Given the description of an element on the screen output the (x, y) to click on. 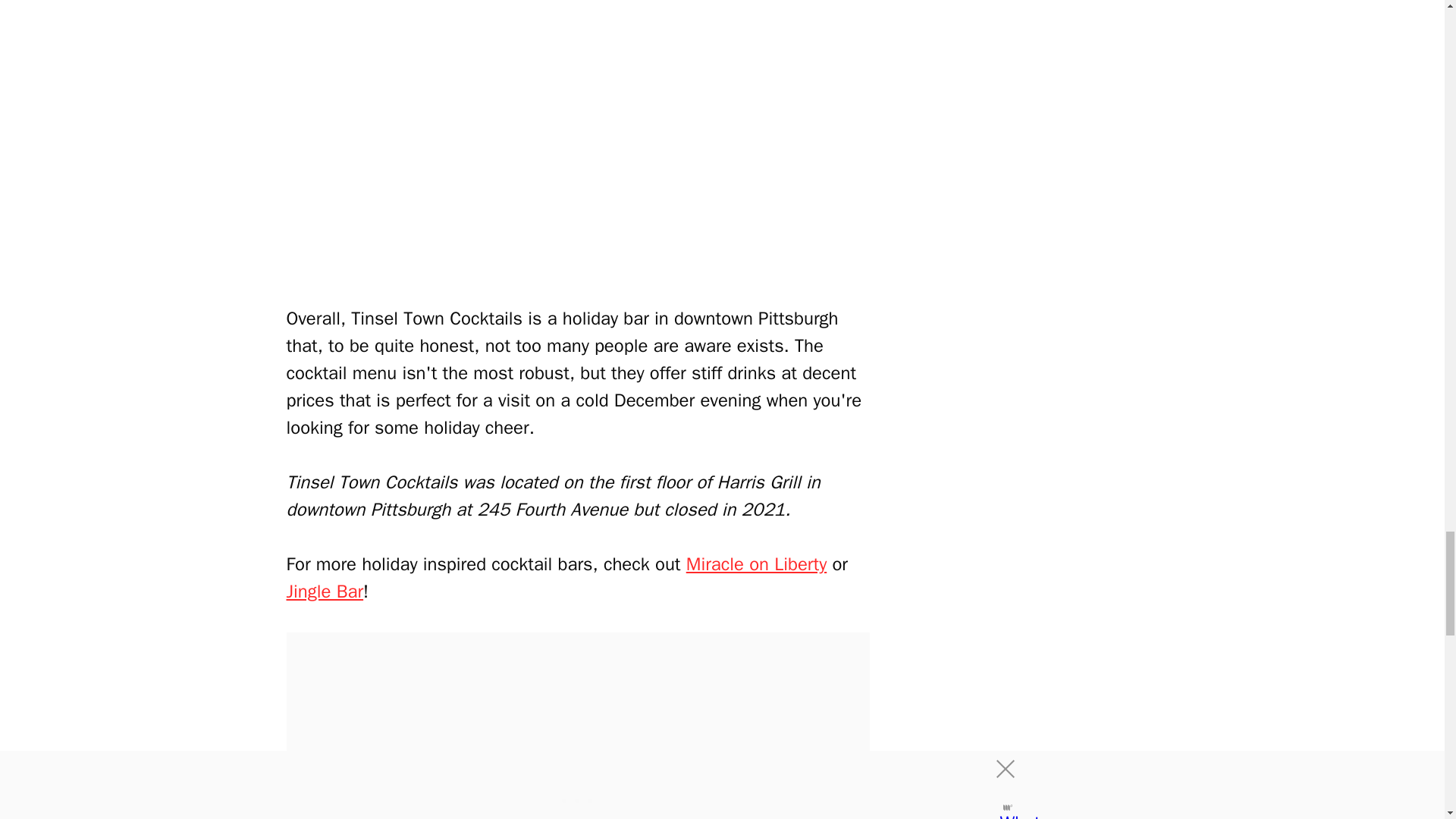
Tinsel Town Cocktail Menu (577, 149)
